Given the description of an element on the screen output the (x, y) to click on. 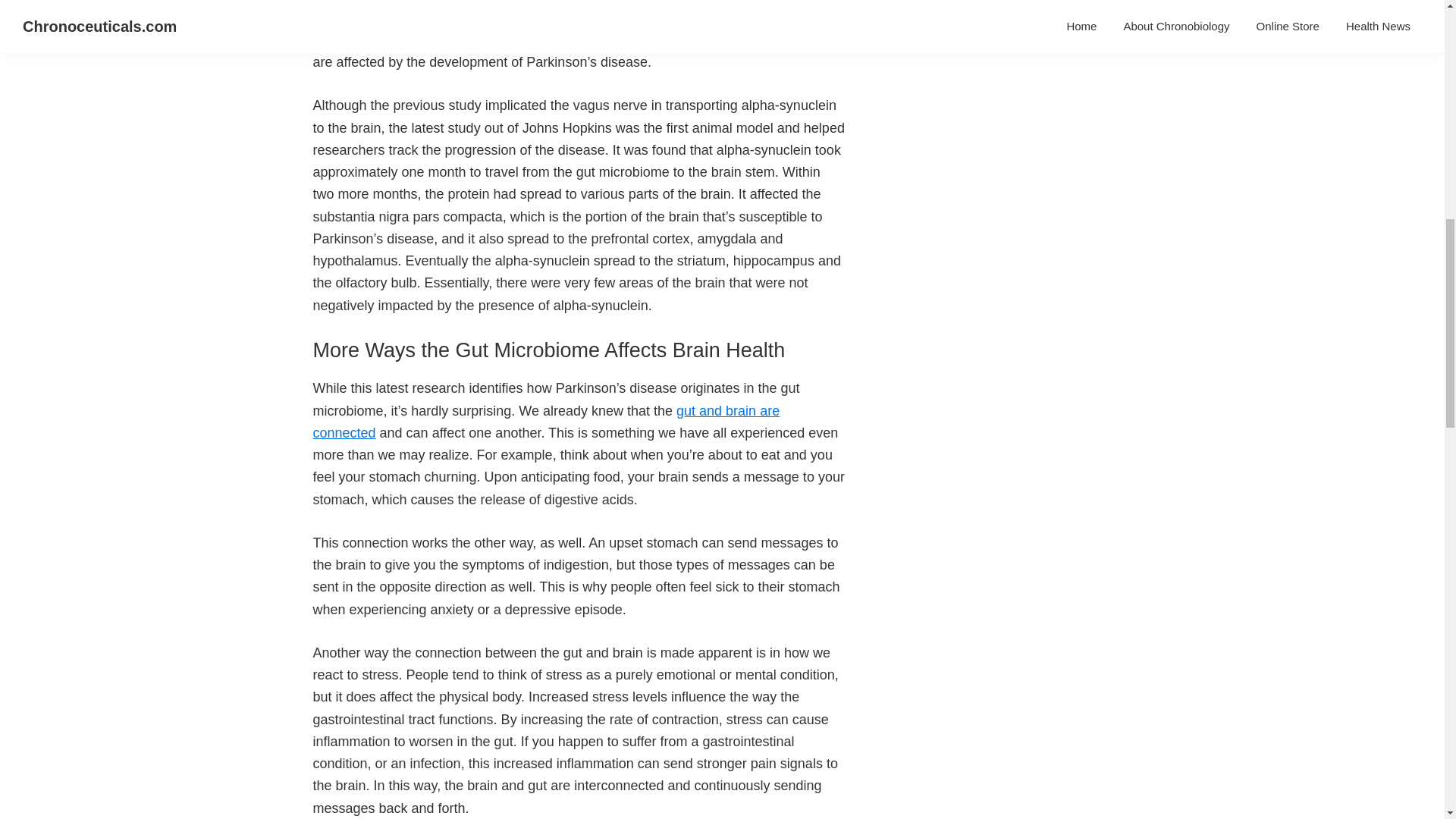
gut and brain are connected (545, 421)
